Given the description of an element on the screen output the (x, y) to click on. 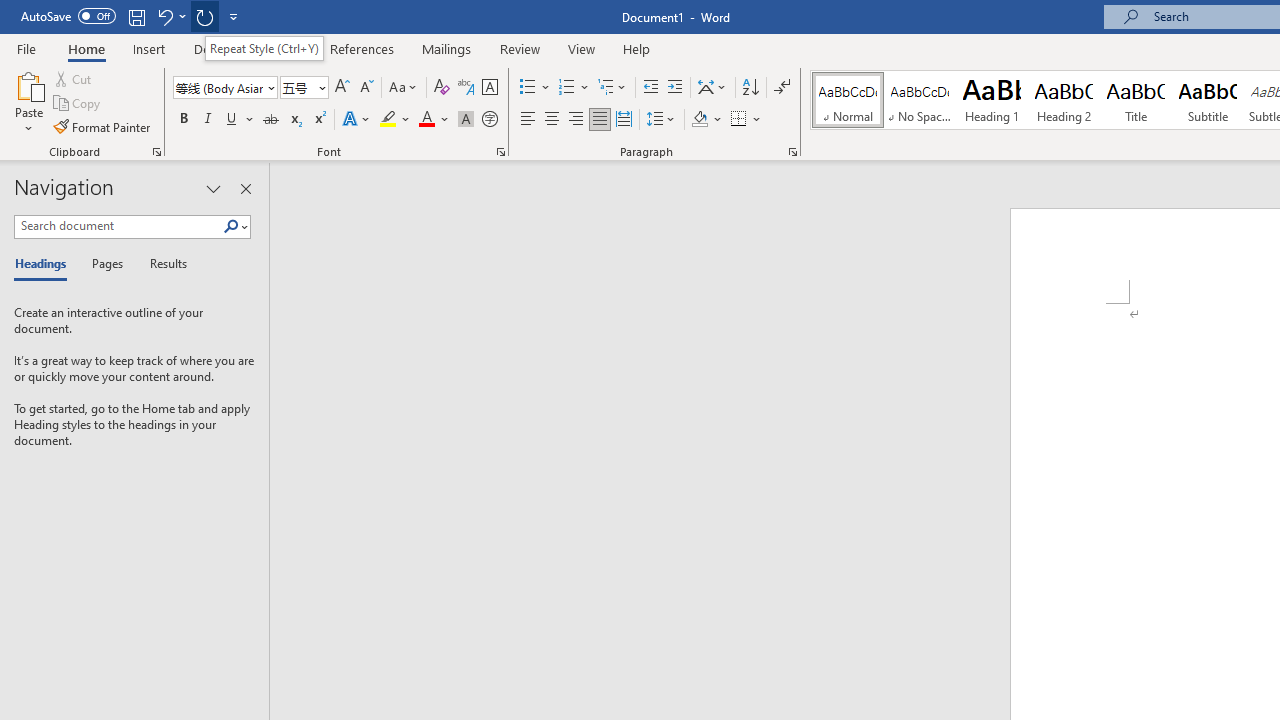
Search (231, 227)
Search document (118, 226)
Shrink Font (365, 87)
Line and Paragraph Spacing (661, 119)
Heading 2 (1063, 100)
Undo Style (164, 15)
Paste (28, 102)
Bullets (535, 87)
Design (214, 48)
Italic (207, 119)
Font... (500, 151)
Mailings (447, 48)
Text Highlight Color Yellow (388, 119)
Change Case (404, 87)
